Given the description of an element on the screen output the (x, y) to click on. 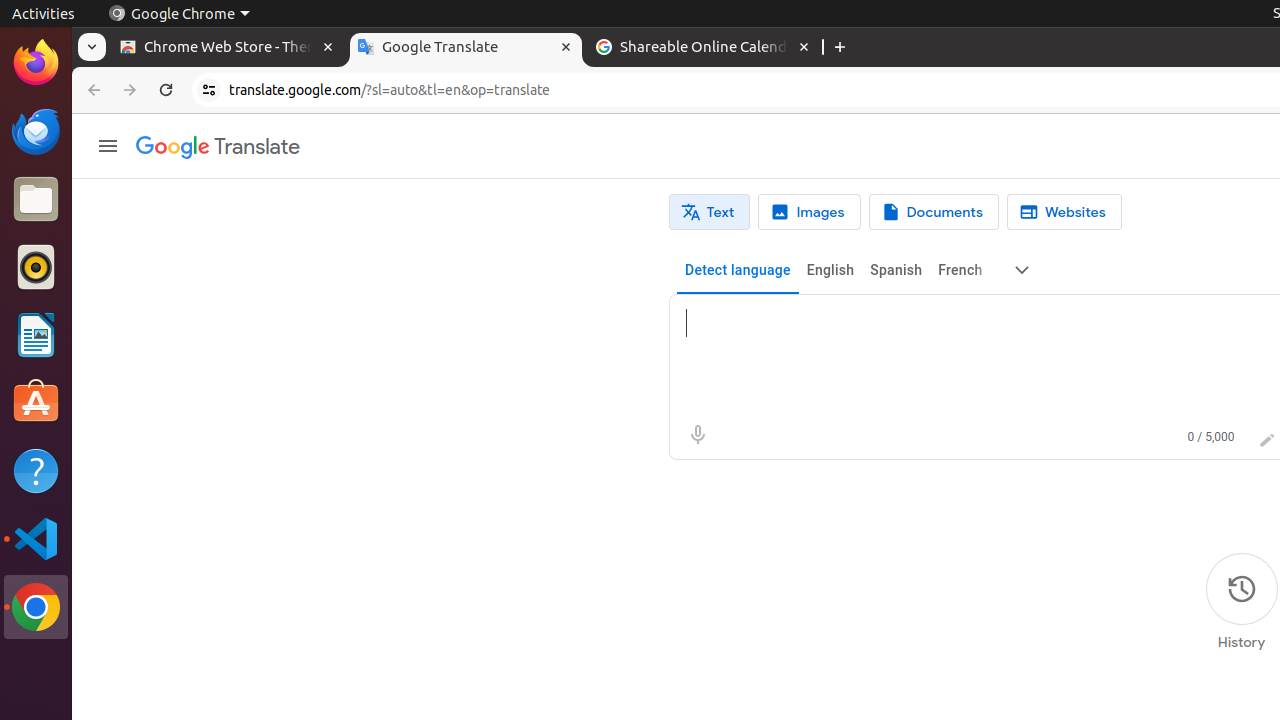
Google Translate Element type: link (218, 148)
Thunderbird Mail Element type: push-button (36, 131)
More source languages Element type: push-button (1022, 270)
Image translation Element type: push-button (809, 211)
English Element type: page-tab (830, 270)
